Given the description of an element on the screen output the (x, y) to click on. 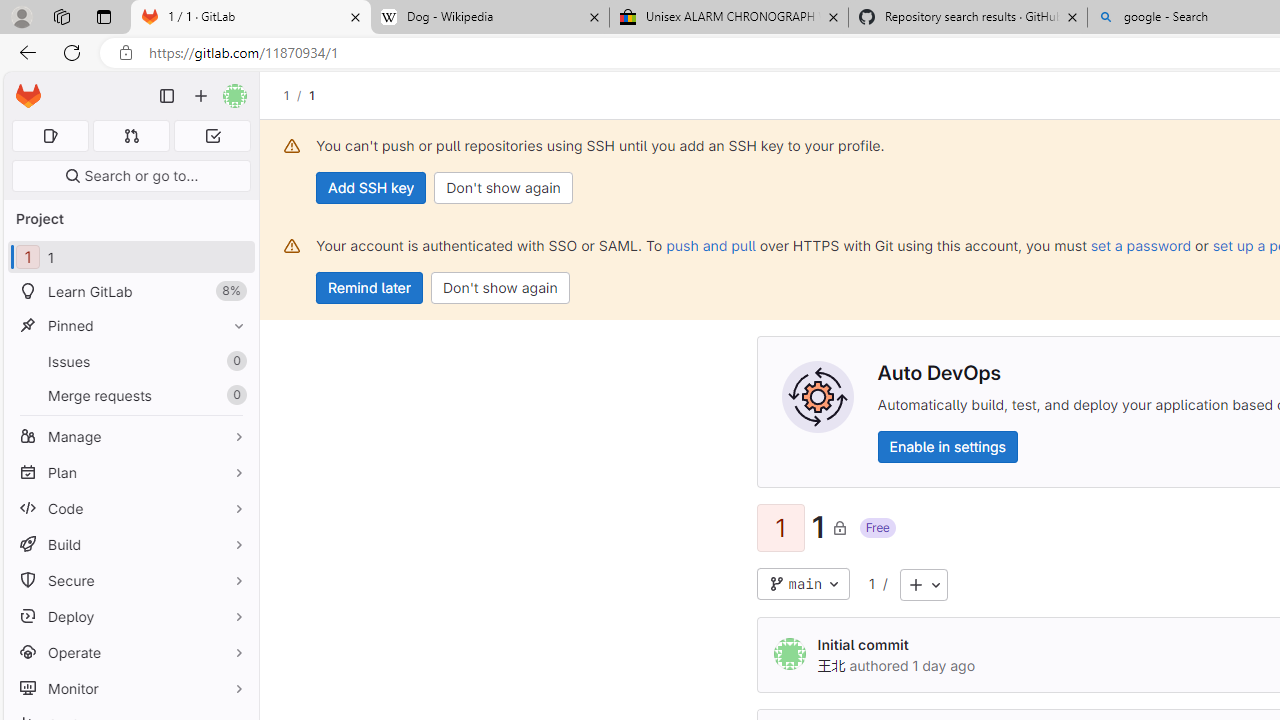
Deploy (130, 615)
1 (872, 584)
Merge requests0 (130, 394)
Secure (130, 579)
Dog - Wikipedia (490, 17)
Operate (130, 651)
Don't show again (500, 287)
Skip to main content (23, 87)
Unpin Issues (234, 361)
Monitor (130, 687)
Learn GitLab 8% (130, 291)
